Given the description of an element on the screen output the (x, y) to click on. 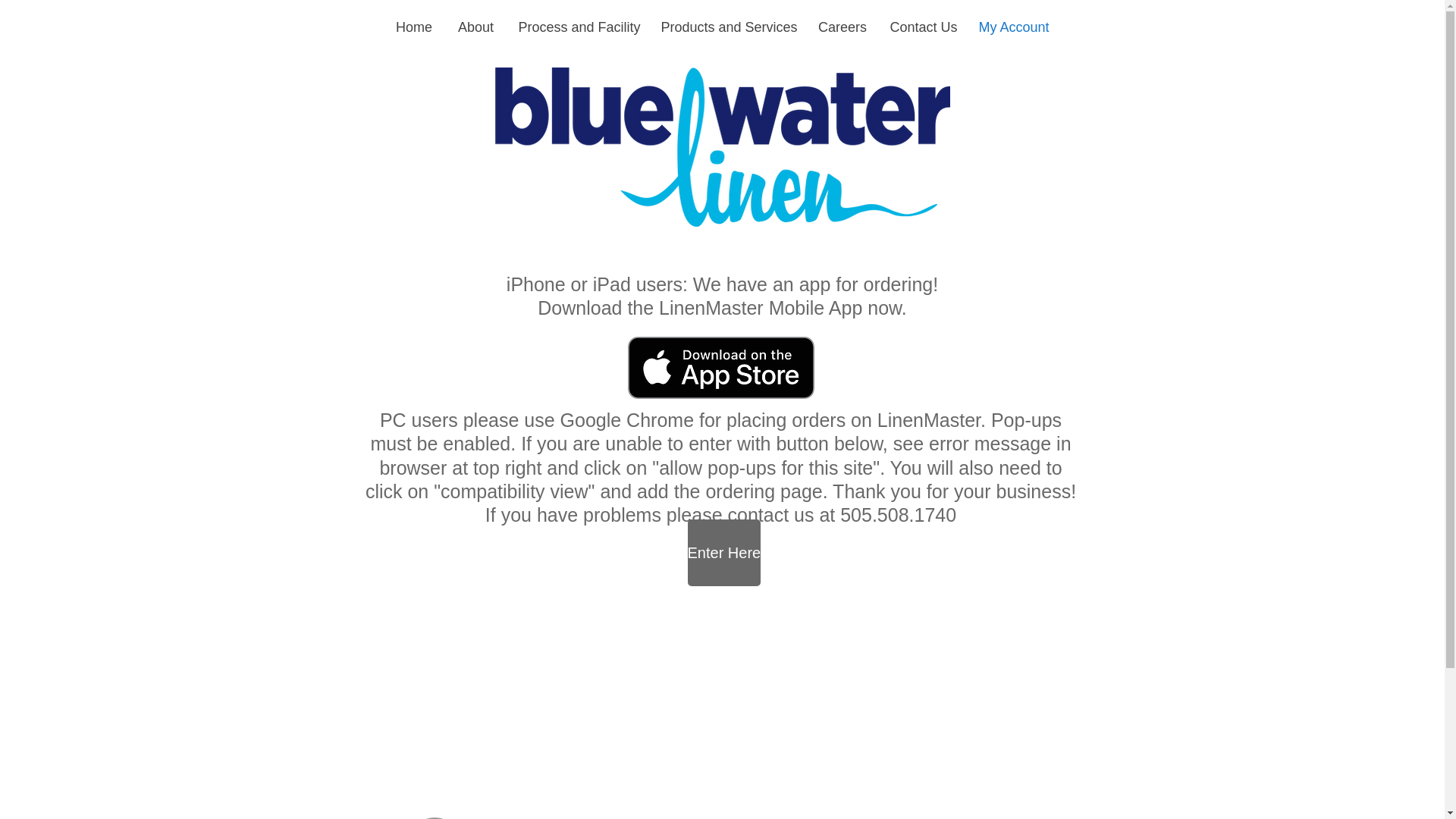
Careers (842, 26)
Home (414, 26)
Process and Facility (577, 26)
Contact Us (921, 26)
About (475, 26)
Products and Services (727, 26)
My Account (1014, 26)
Enter Here (723, 552)
